Given the description of an element on the screen output the (x, y) to click on. 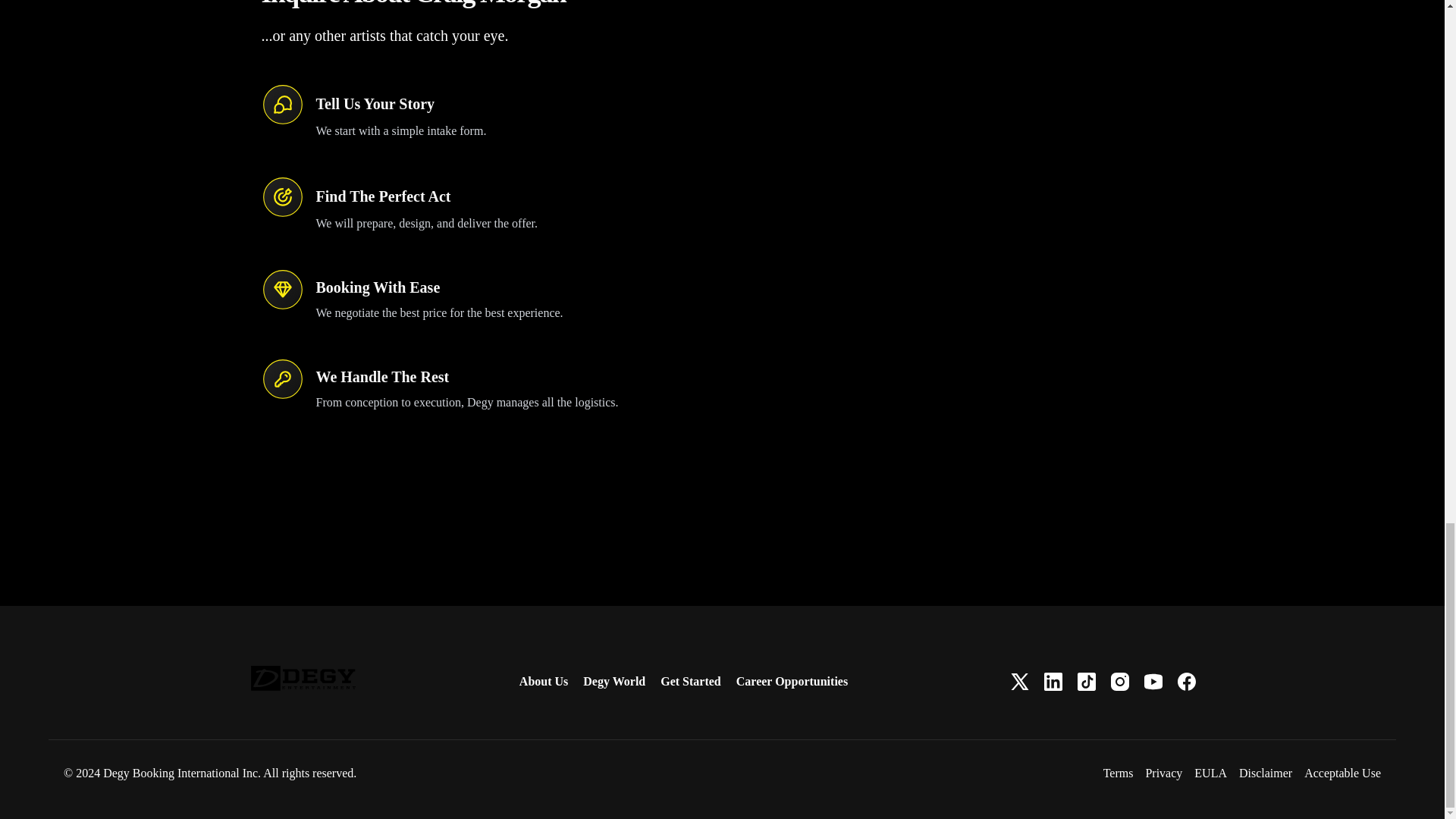
About Us (543, 681)
Degy World (614, 681)
Career Opportunities (791, 681)
Get Started (690, 681)
